Given the description of an element on the screen output the (x, y) to click on. 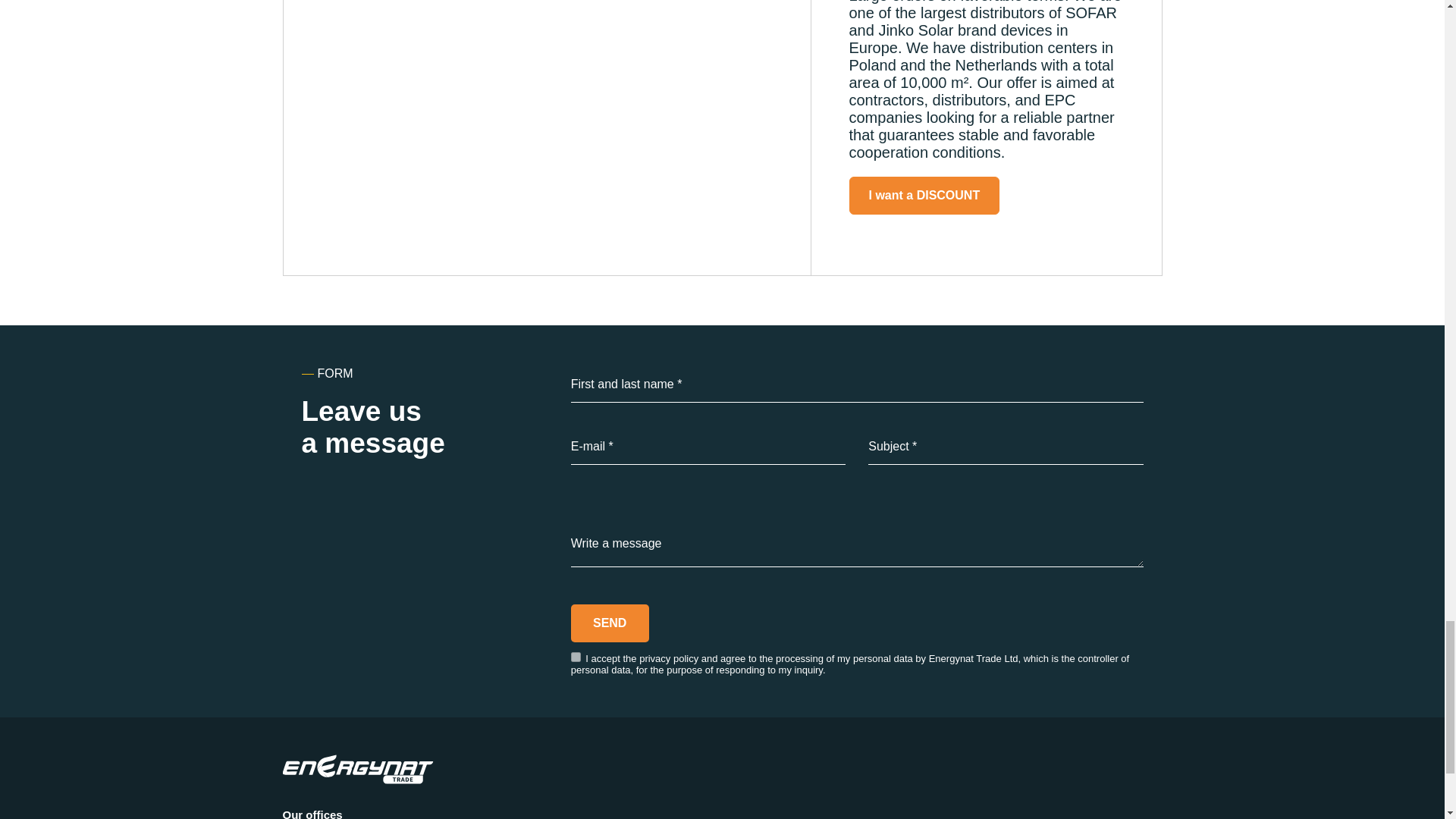
Send (609, 623)
